Given the description of an element on the screen output the (x, y) to click on. 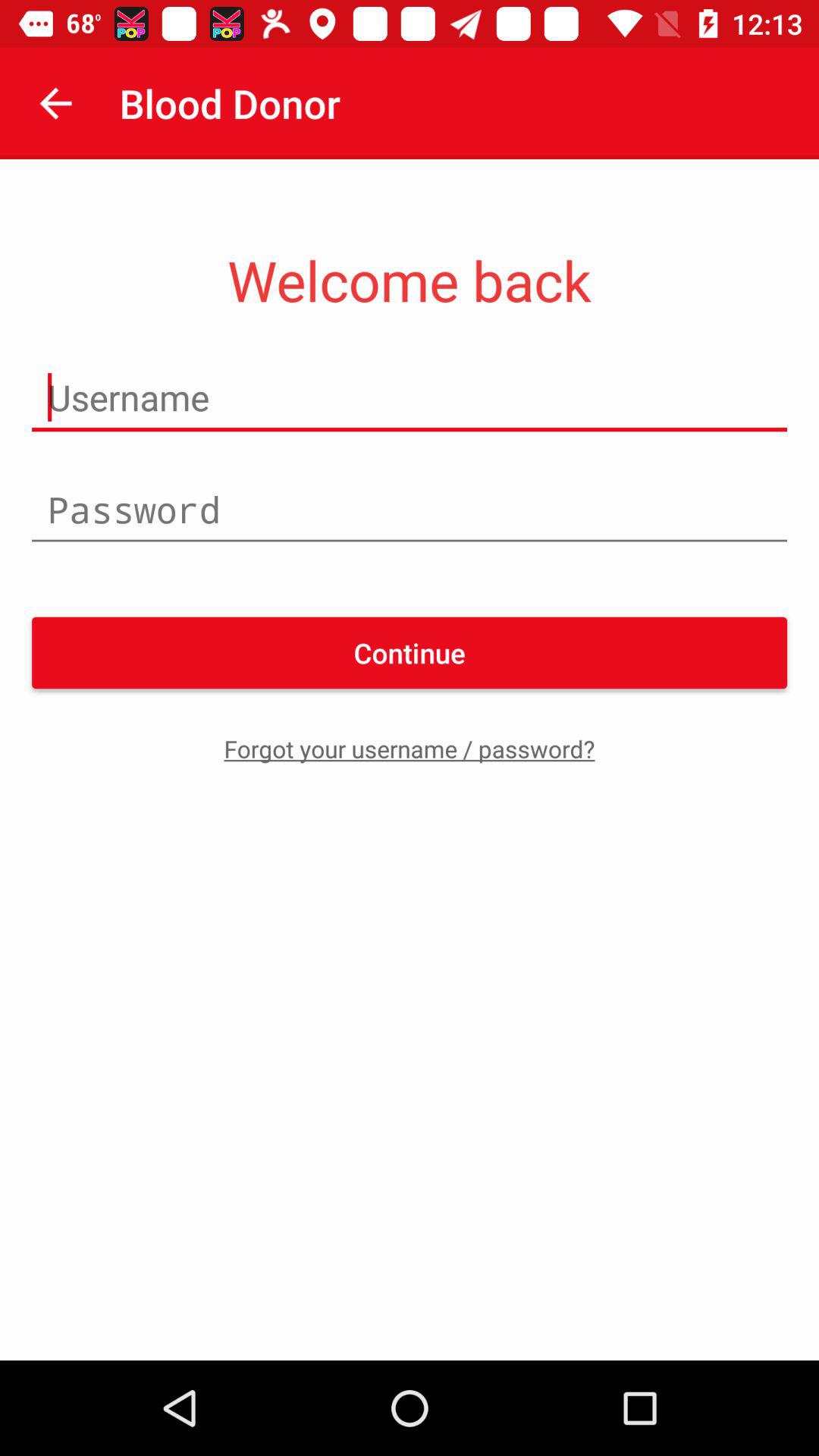
select the item next to blood donor (55, 103)
